Given the description of an element on the screen output the (x, y) to click on. 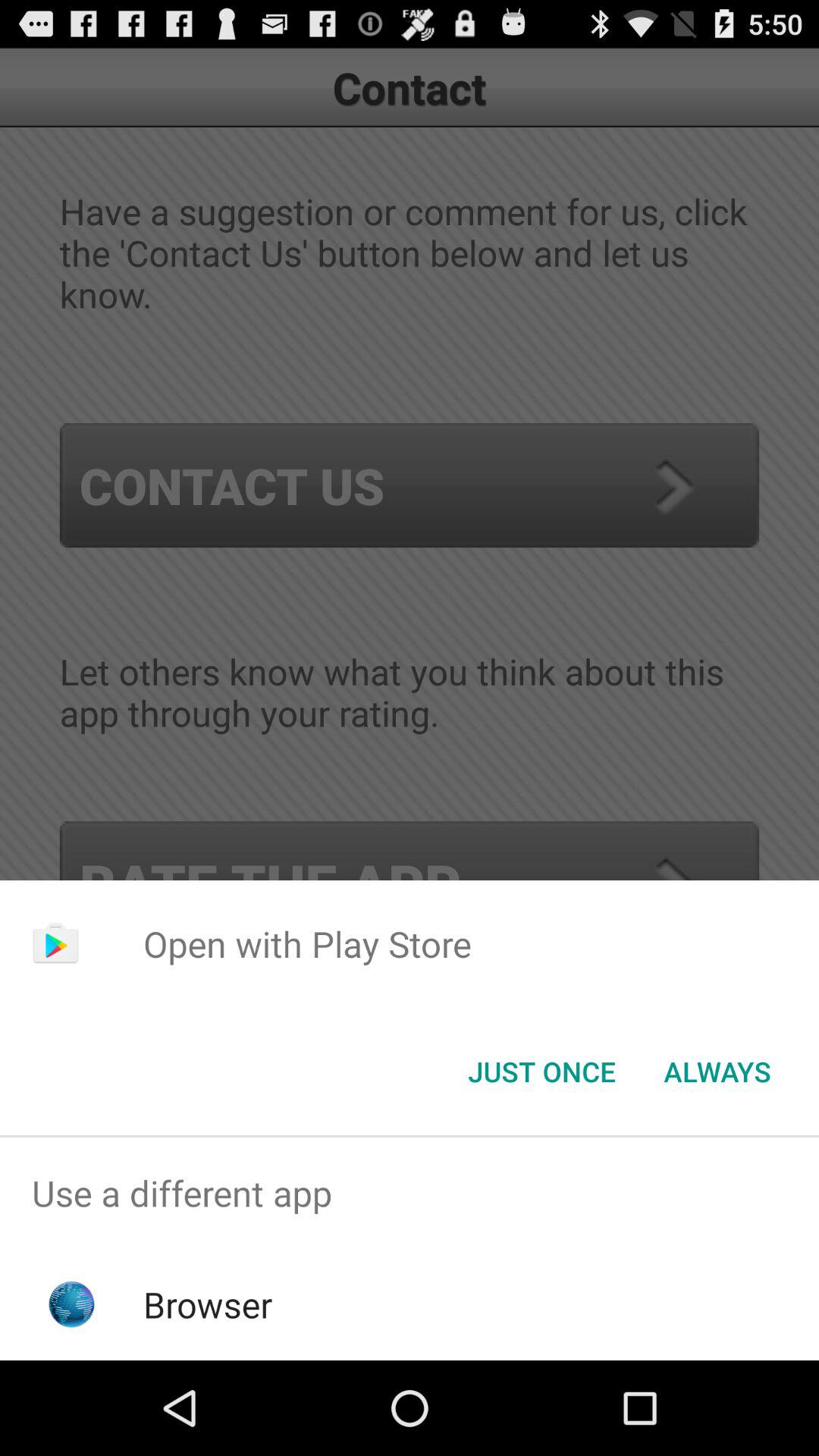
flip until the use a different (409, 1192)
